Given the description of an element on the screen output the (x, y) to click on. 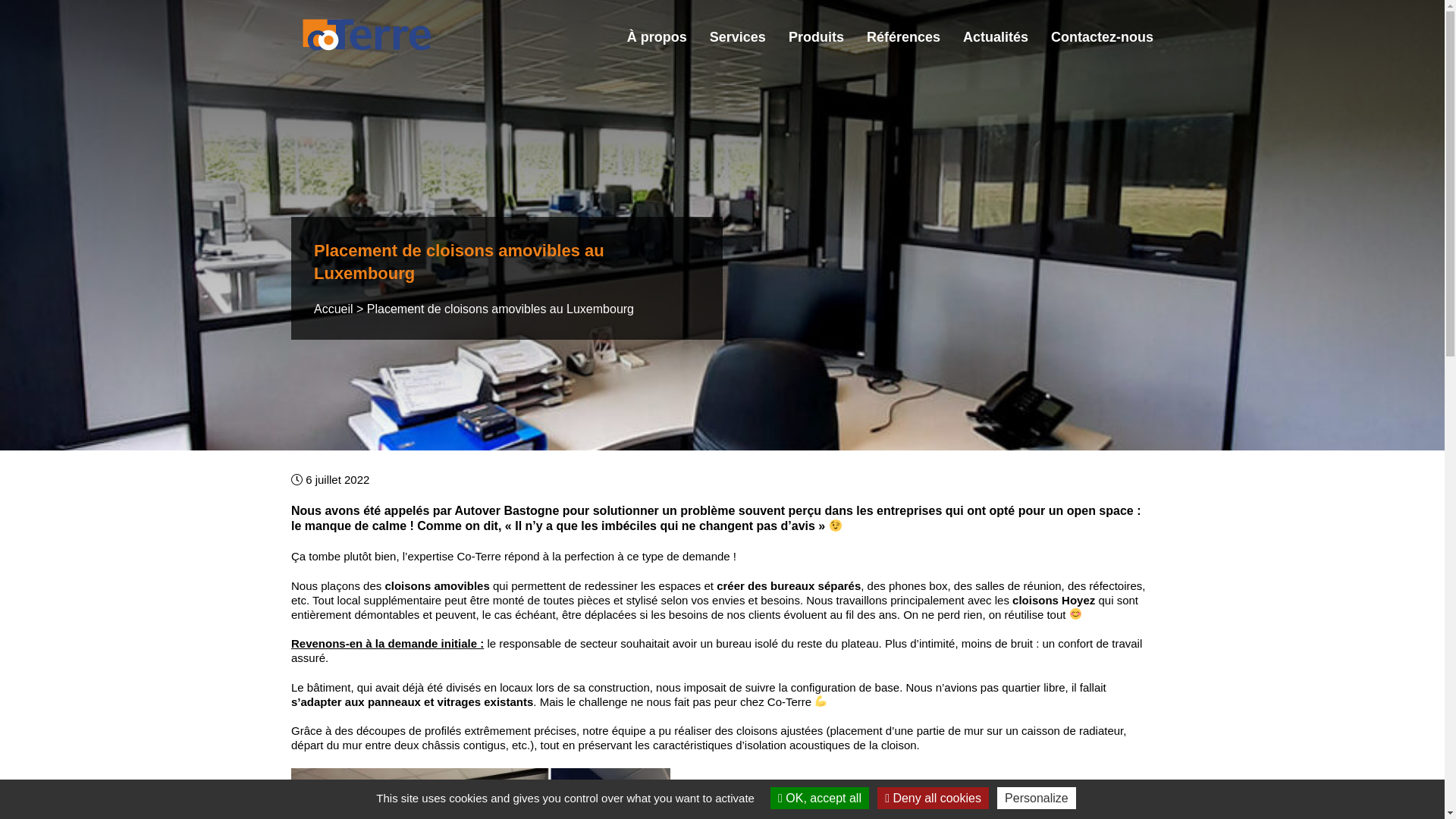
Services Element type: text (737, 36)
OK, accept all Element type: text (819, 798)
Produits Element type: text (816, 36)
Deny all cookies Element type: text (932, 798)
Contactez-nous Element type: text (1102, 36)
Accueil Element type: text (333, 308)
Personalize Element type: text (1036, 798)
